Given the description of an element on the screen output the (x, y) to click on. 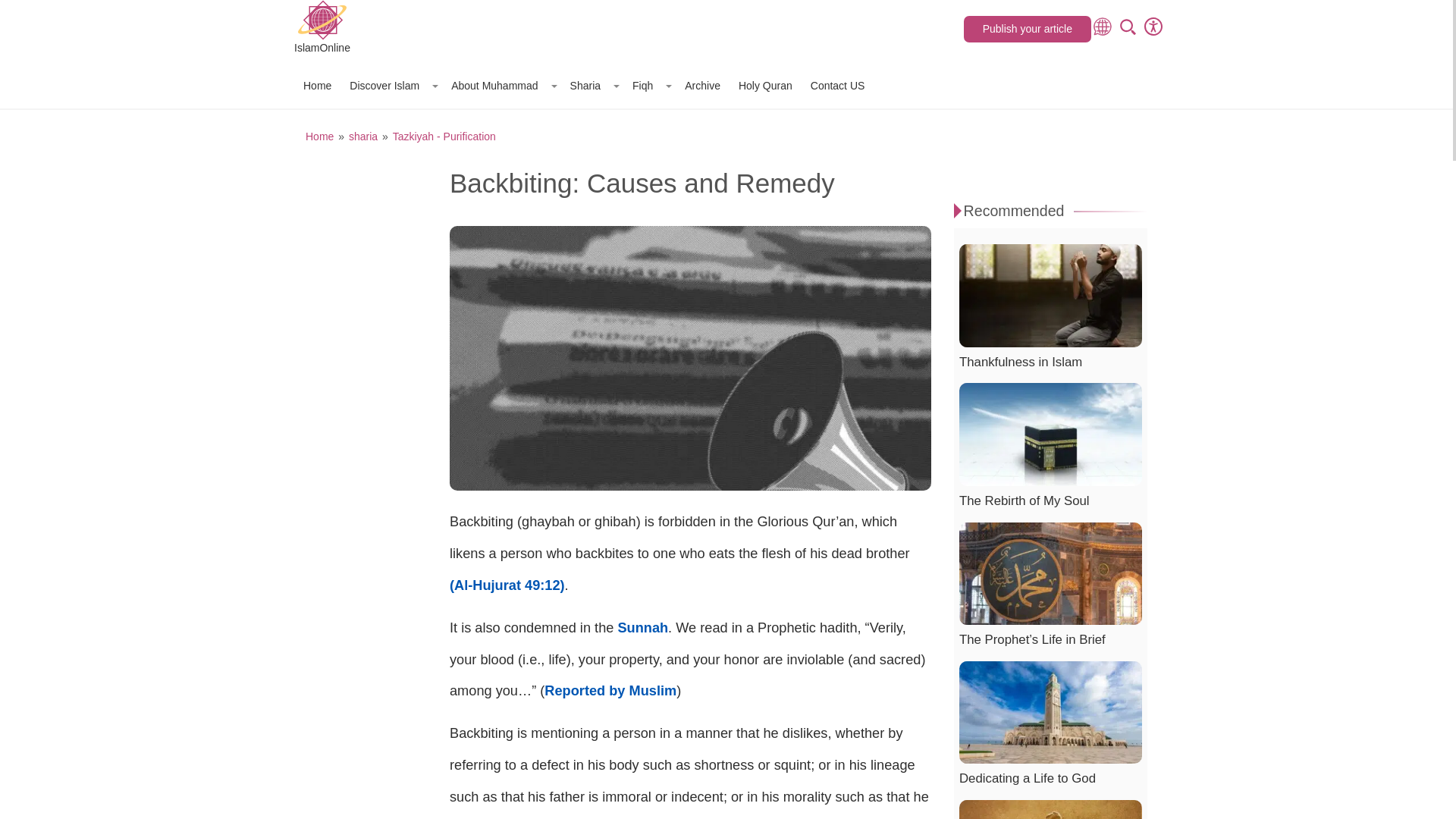
Publish your article (1026, 28)
Holy Quran (765, 85)
Discover Islam (390, 85)
IslamOnline (322, 28)
Contact US (837, 85)
About Muhammad (501, 85)
Sharia (592, 85)
